Given the description of an element on the screen output the (x, y) to click on. 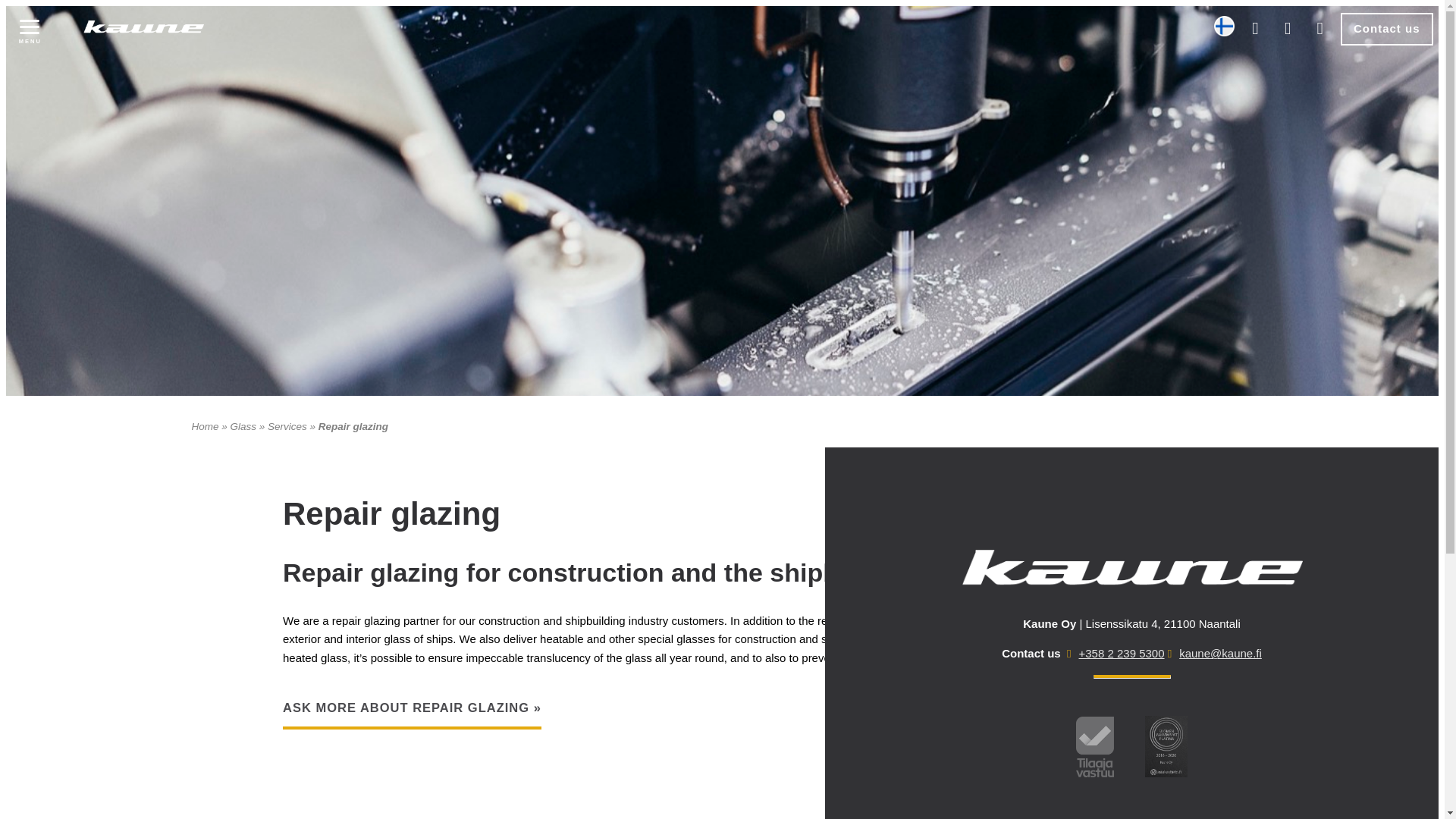
Services (287, 425)
Glass (243, 425)
Home (204, 425)
Kaune Oy (260, 22)
